Given the description of an element on the screen output the (x, y) to click on. 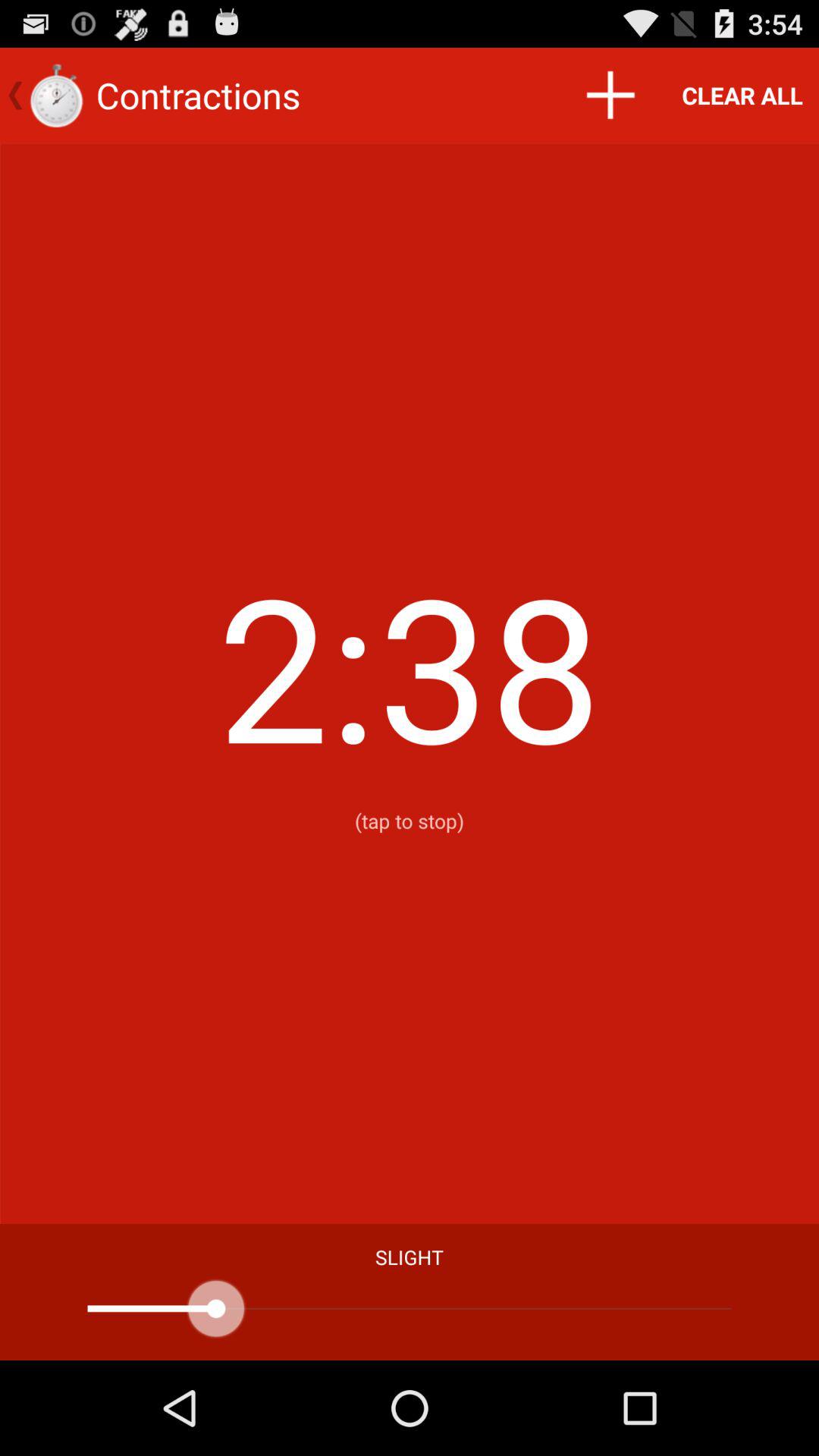
turn off the clear all item (742, 95)
